Given the description of an element on the screen output the (x, y) to click on. 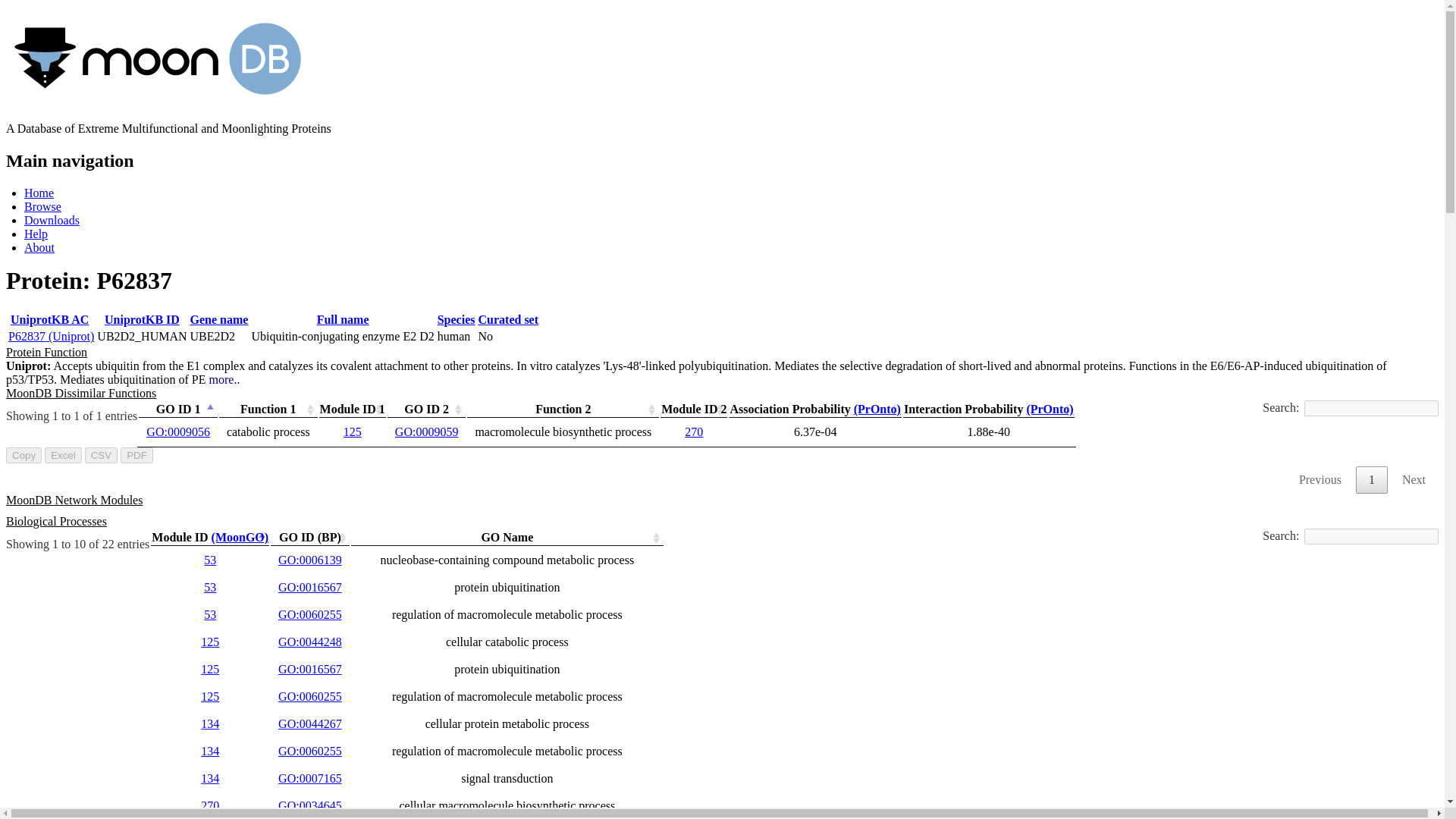
53 (209, 614)
Curated set (507, 318)
sort by Full name (343, 318)
Excel (63, 455)
53 (209, 559)
Species (457, 318)
sort by UniprotKB ID (141, 318)
GO:0009056 (178, 431)
Uniprot-annotated protein function (46, 351)
GO:0006139 (310, 559)
Home (38, 192)
sort by Species (457, 318)
UniprotKB AC (50, 318)
